Given the description of an element on the screen output the (x, y) to click on. 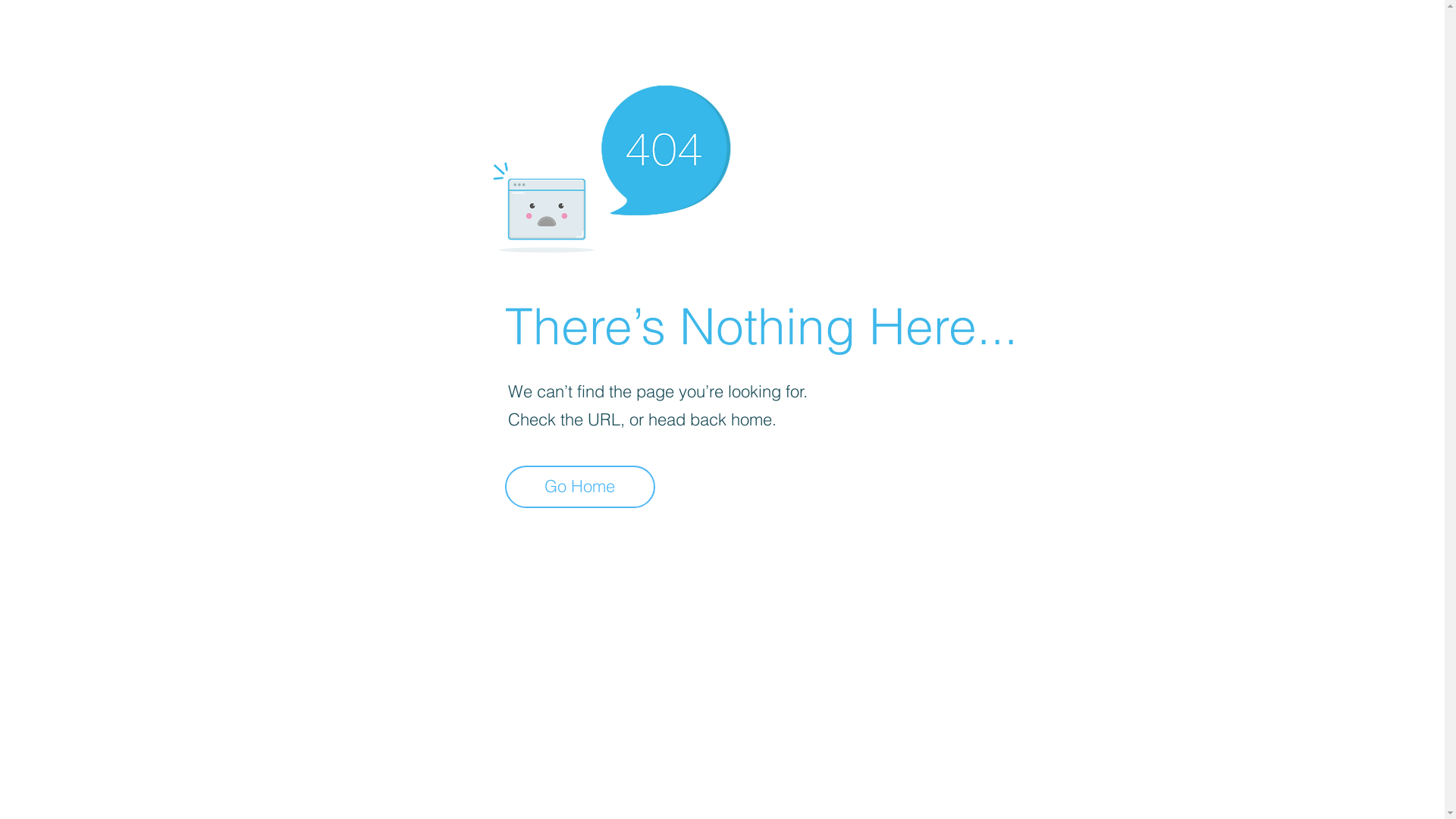
404-icon_2.png Element type: hover (610, 164)
Go Home Element type: text (580, 486)
